Given the description of an element on the screen output the (x, y) to click on. 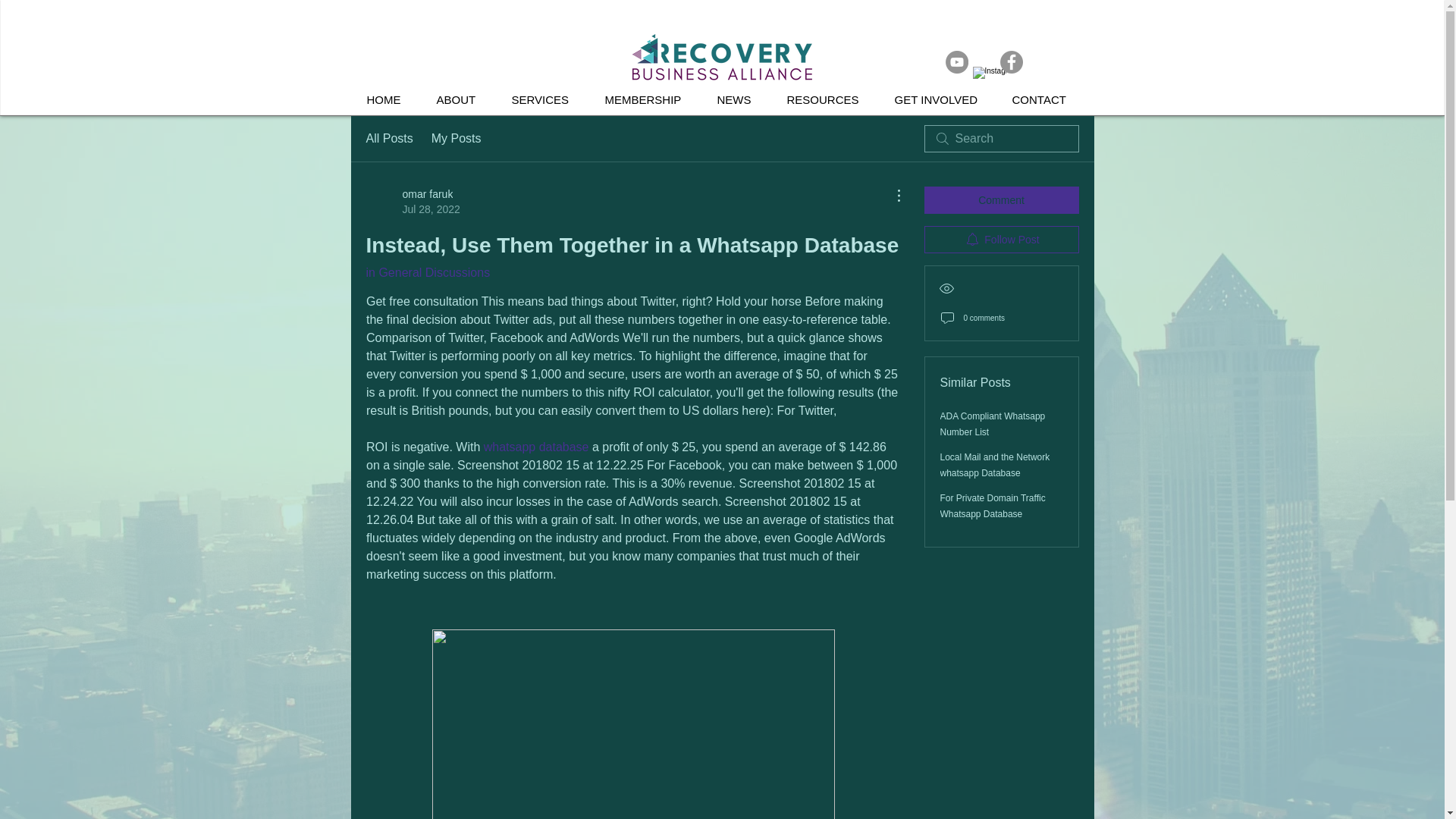
My Posts (455, 138)
Follow Post (1000, 239)
Comment (1000, 199)
Local Mail and the Network whatsapp Database (994, 465)
HOME (390, 99)
NEWS (739, 99)
in General Discussions (427, 272)
whatsapp database (412, 201)
All Posts (535, 446)
